Given the description of an element on the screen output the (x, y) to click on. 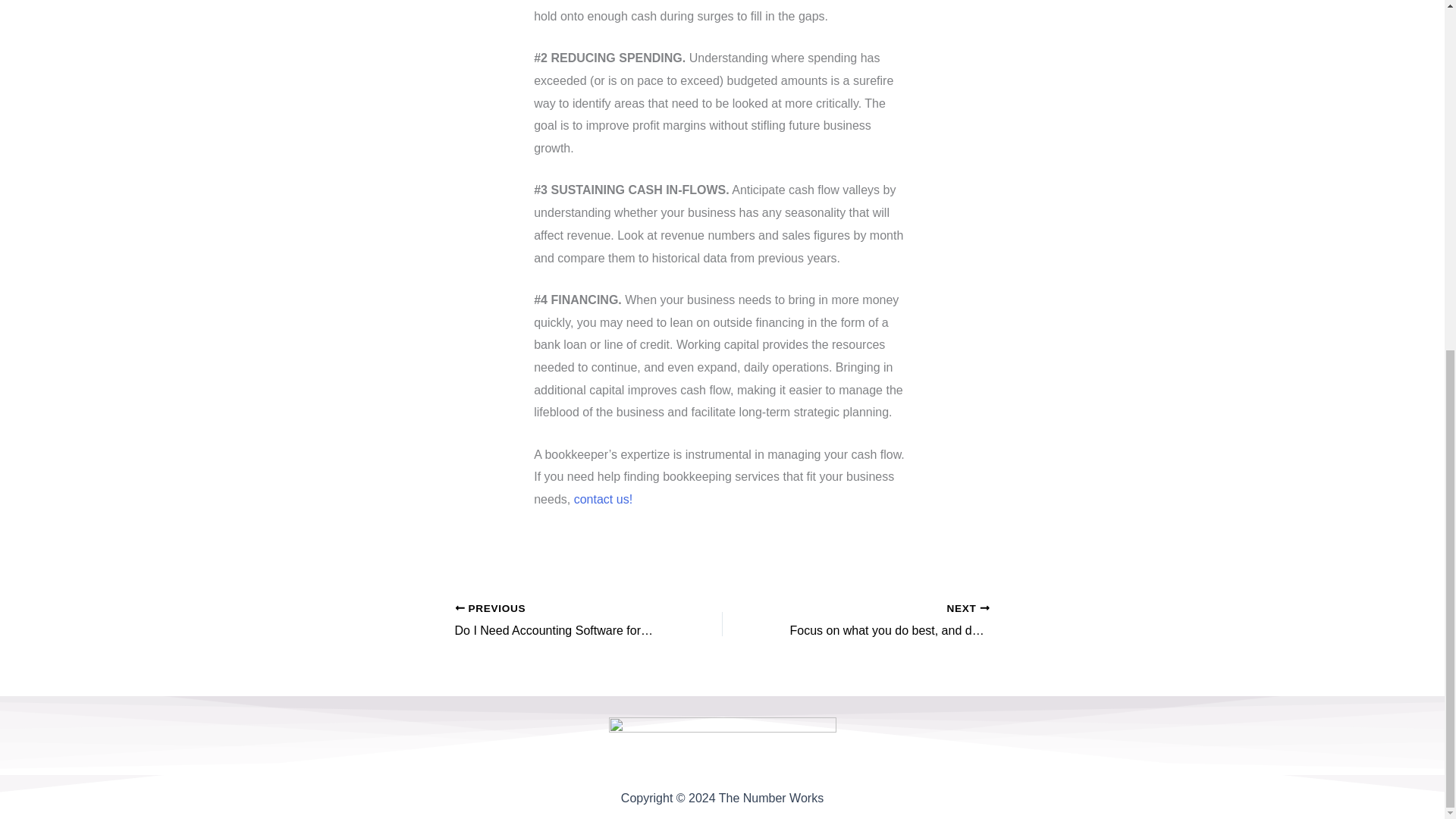
contact us! (602, 499)
Do I Need Accounting Software for My Small Business in 2024? (561, 620)
